Given the description of an element on the screen output the (x, y) to click on. 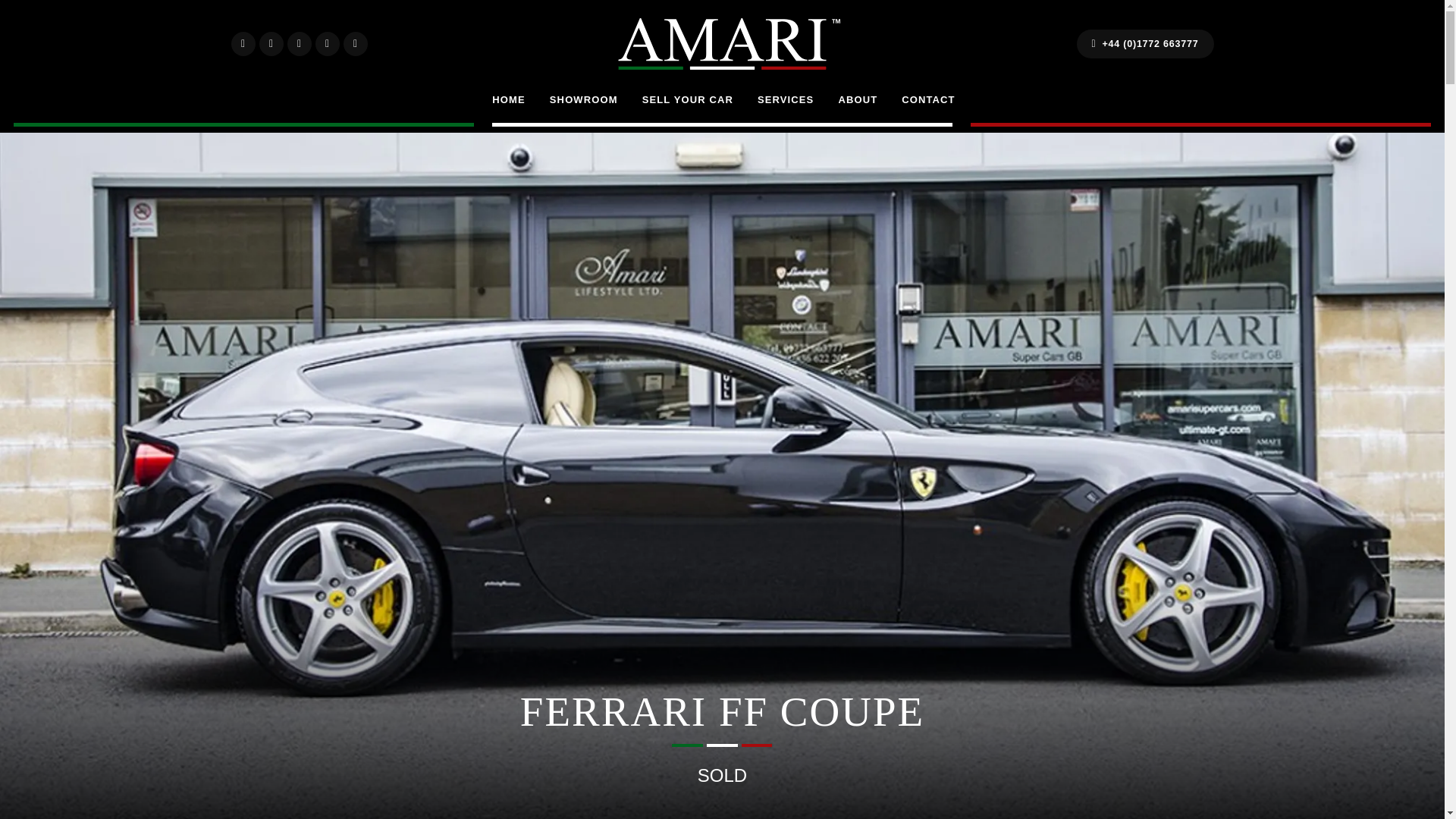
SELL YOUR CAR (687, 99)
HOME (507, 99)
SERVICES (785, 99)
SHOWROOM (583, 99)
